Given the description of an element on the screen output the (x, y) to click on. 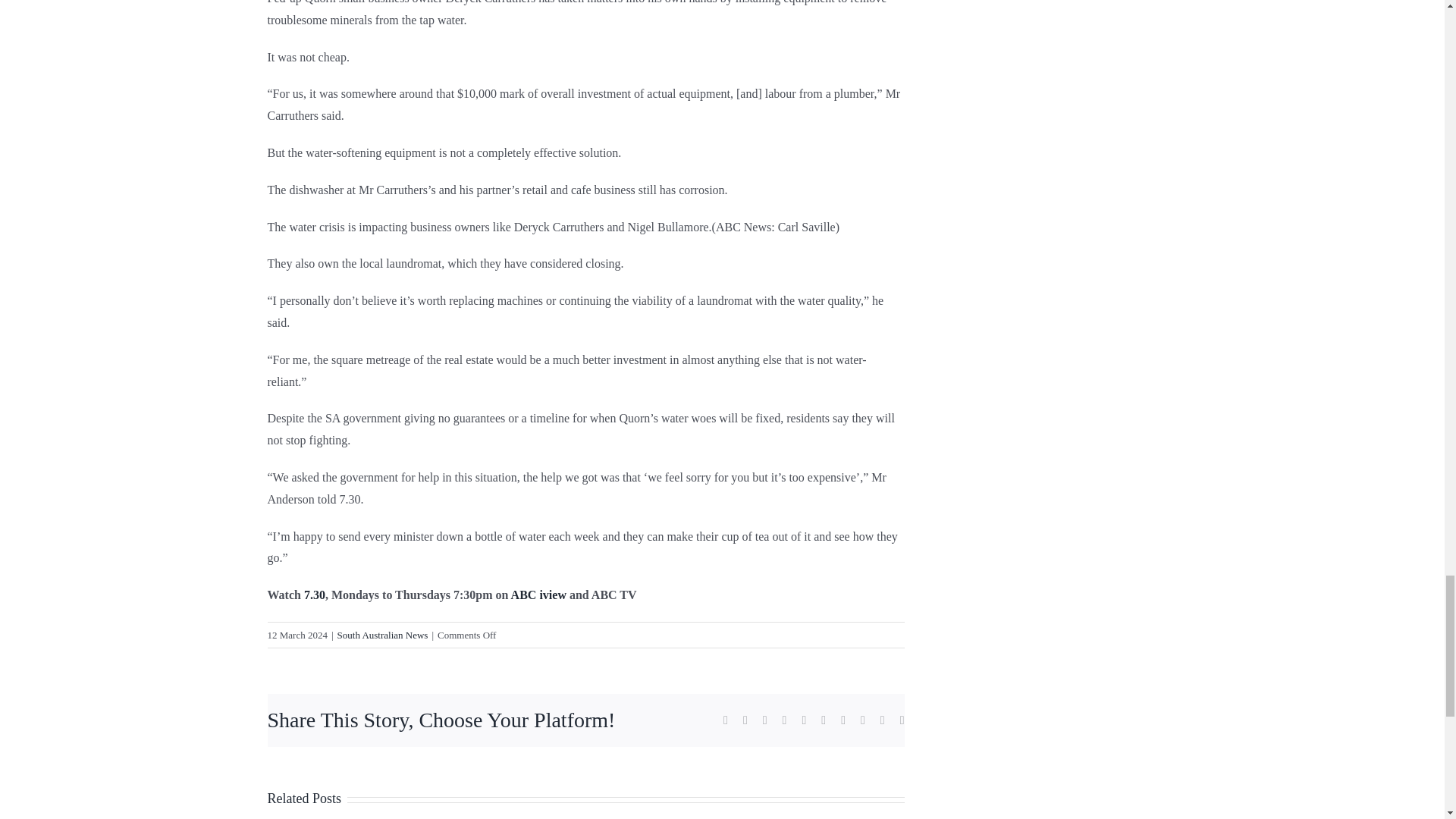
ABC iview (538, 594)
South Australian News (382, 634)
7.30 (314, 594)
